Given the description of an element on the screen output the (x, y) to click on. 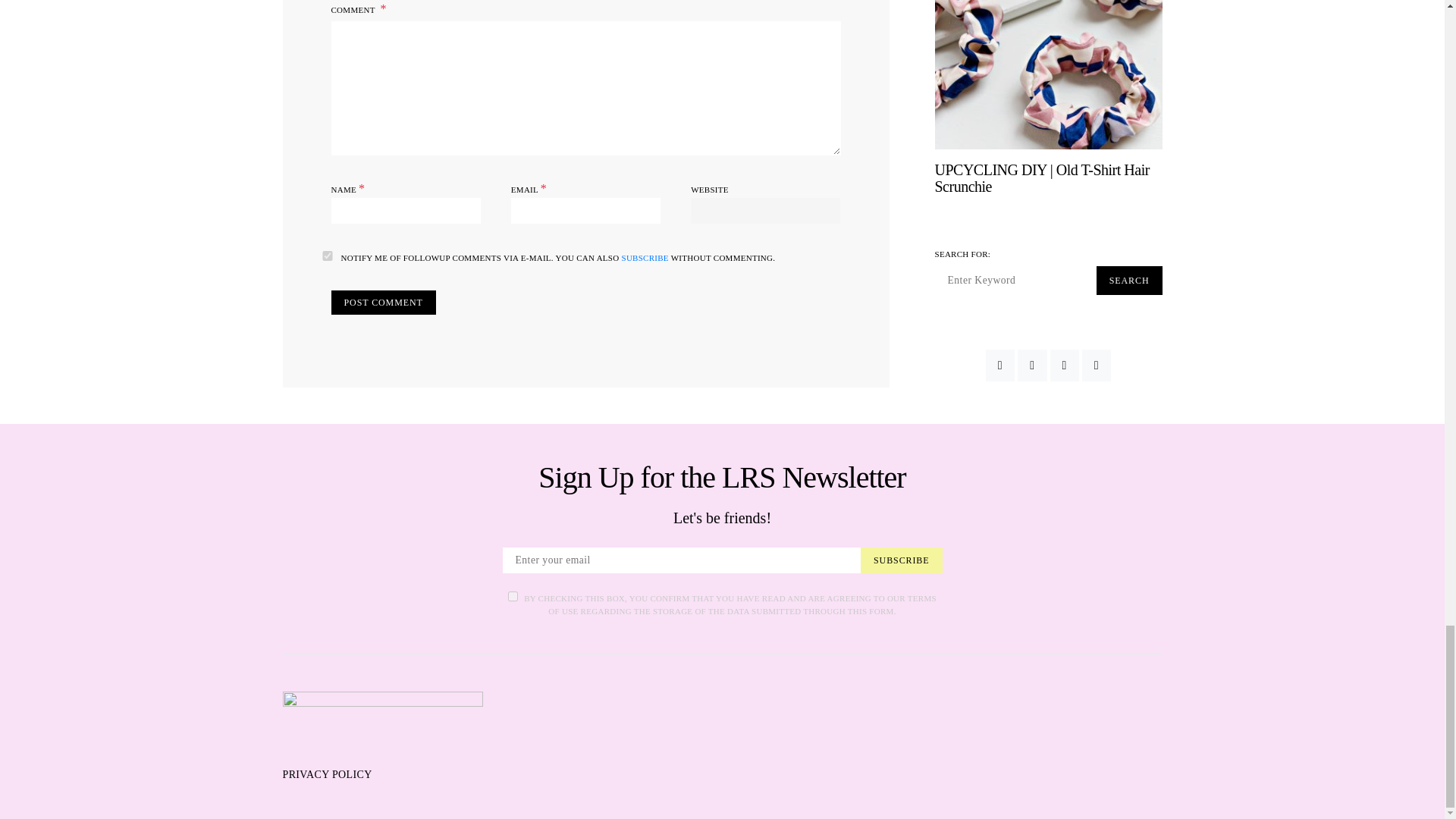
on (513, 596)
Post Comment (382, 302)
yes (326, 255)
